Given the description of an element on the screen output the (x, y) to click on. 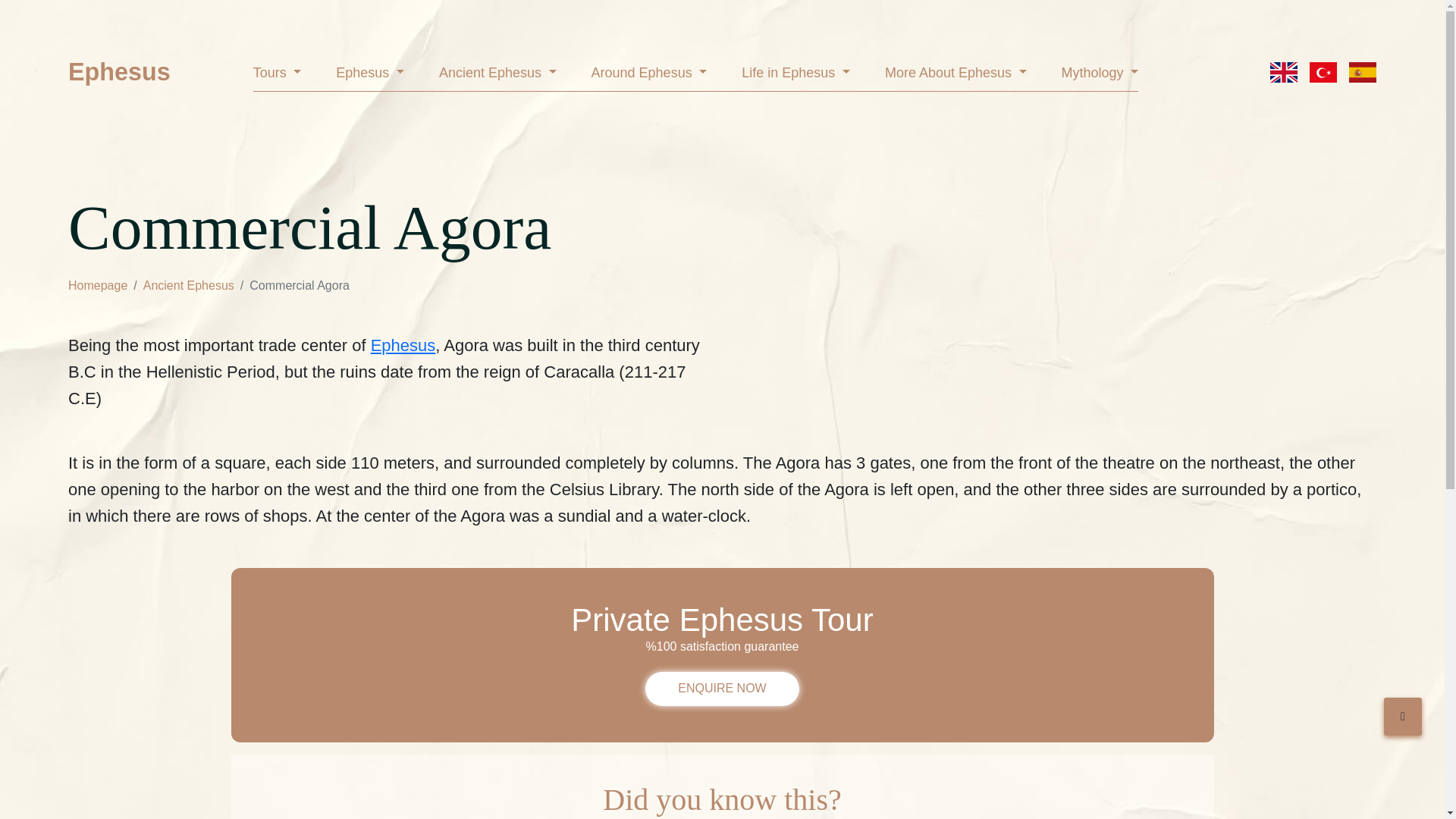
Ephesus (370, 76)
Ephesus (119, 72)
Tours (277, 76)
Ephesus (119, 72)
Ancient Ephesus (497, 76)
